Given the description of an element on the screen output the (x, y) to click on. 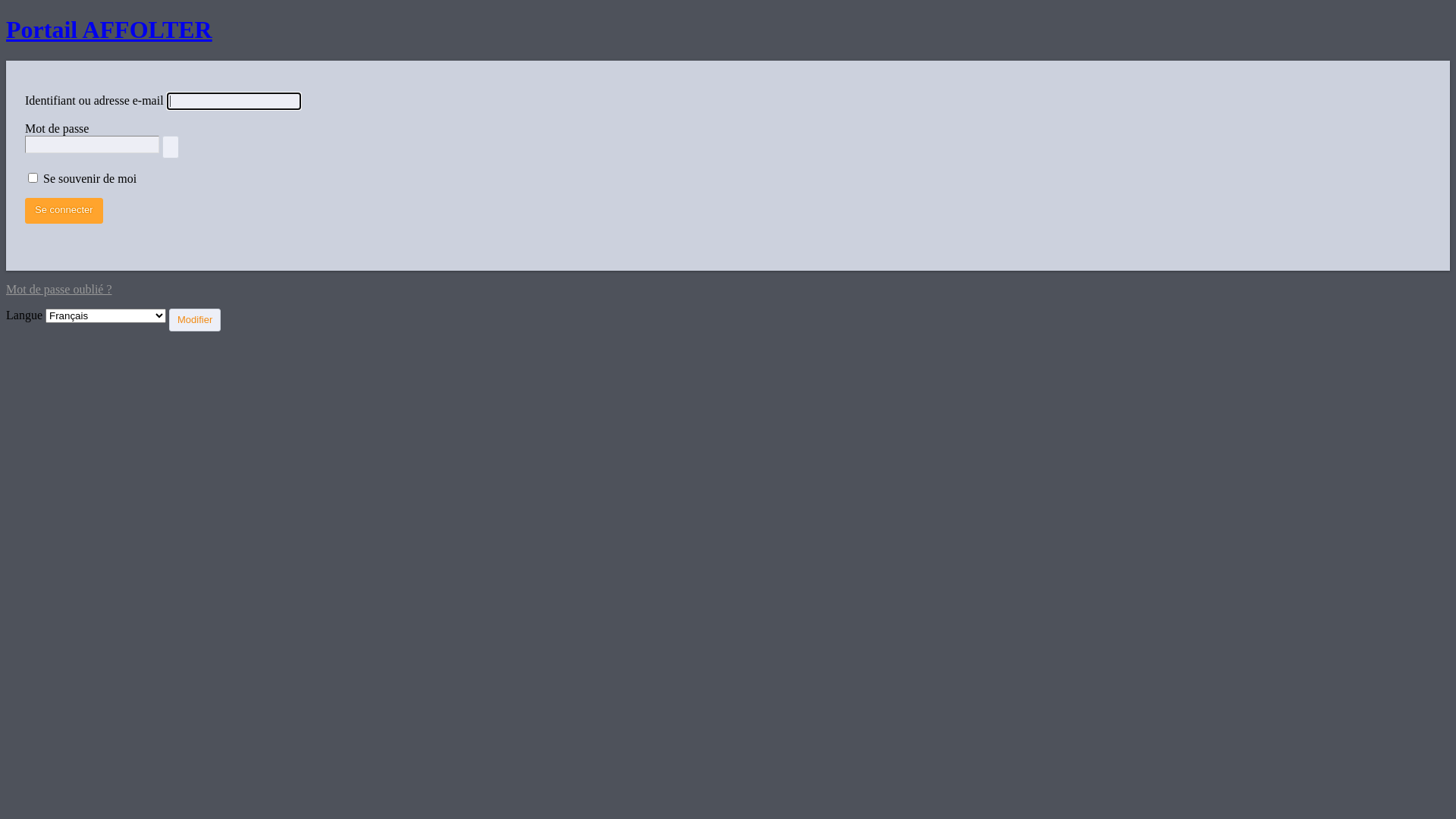
Modifier Element type: text (194, 319)
Portail AFFOLTER Element type: text (109, 29)
Se connecter Element type: text (64, 210)
